Given the description of an element on the screen output the (x, y) to click on. 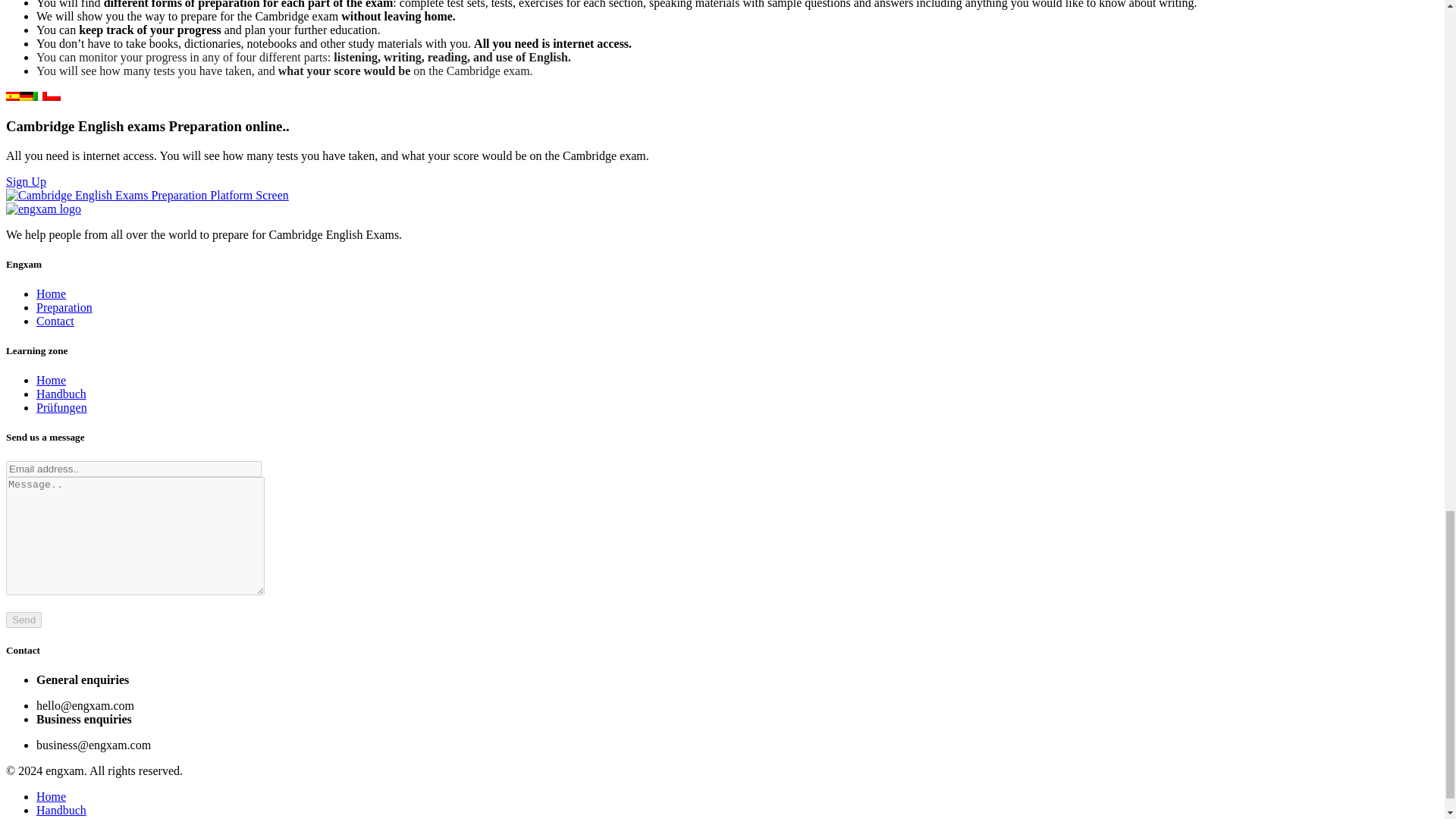
Deutsch (26, 95)
polski (53, 95)
Italiano (39, 95)
